Given the description of an element on the screen output the (x, y) to click on. 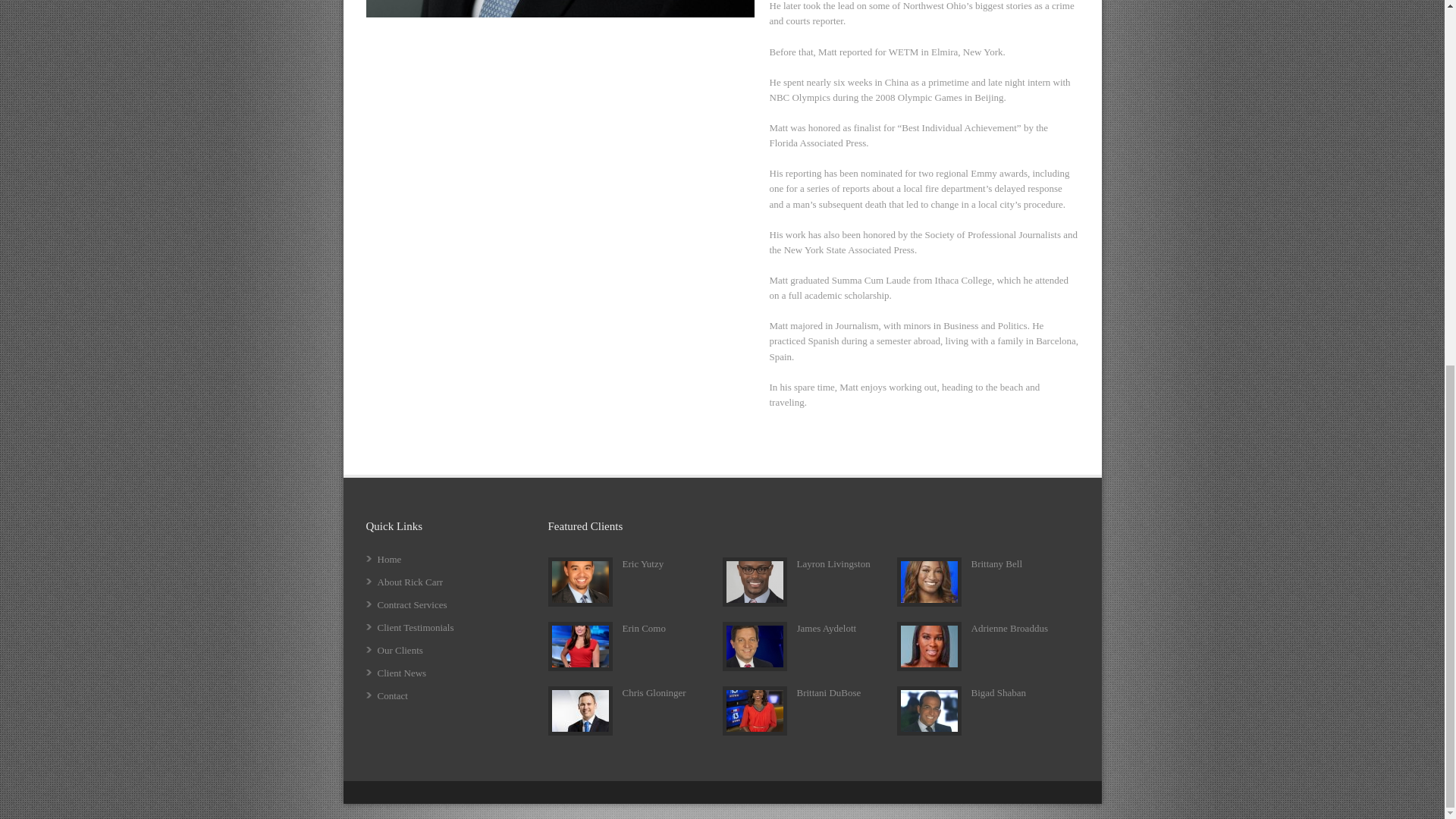
Contract Services (411, 604)
James Aydelott (826, 627)
About Rick Carr (410, 582)
Erin Como (643, 627)
Matt Wright (559, 13)
Layron Livingston (832, 563)
Adrienne Broaddus (1008, 627)
Client Testimonials (415, 627)
Our Clients (400, 650)
Contact (392, 695)
Home (389, 559)
Client News (401, 672)
Brittany Bell (996, 563)
Eric Yutzy (642, 563)
Chris Gloninger (653, 692)
